Given the description of an element on the screen output the (x, y) to click on. 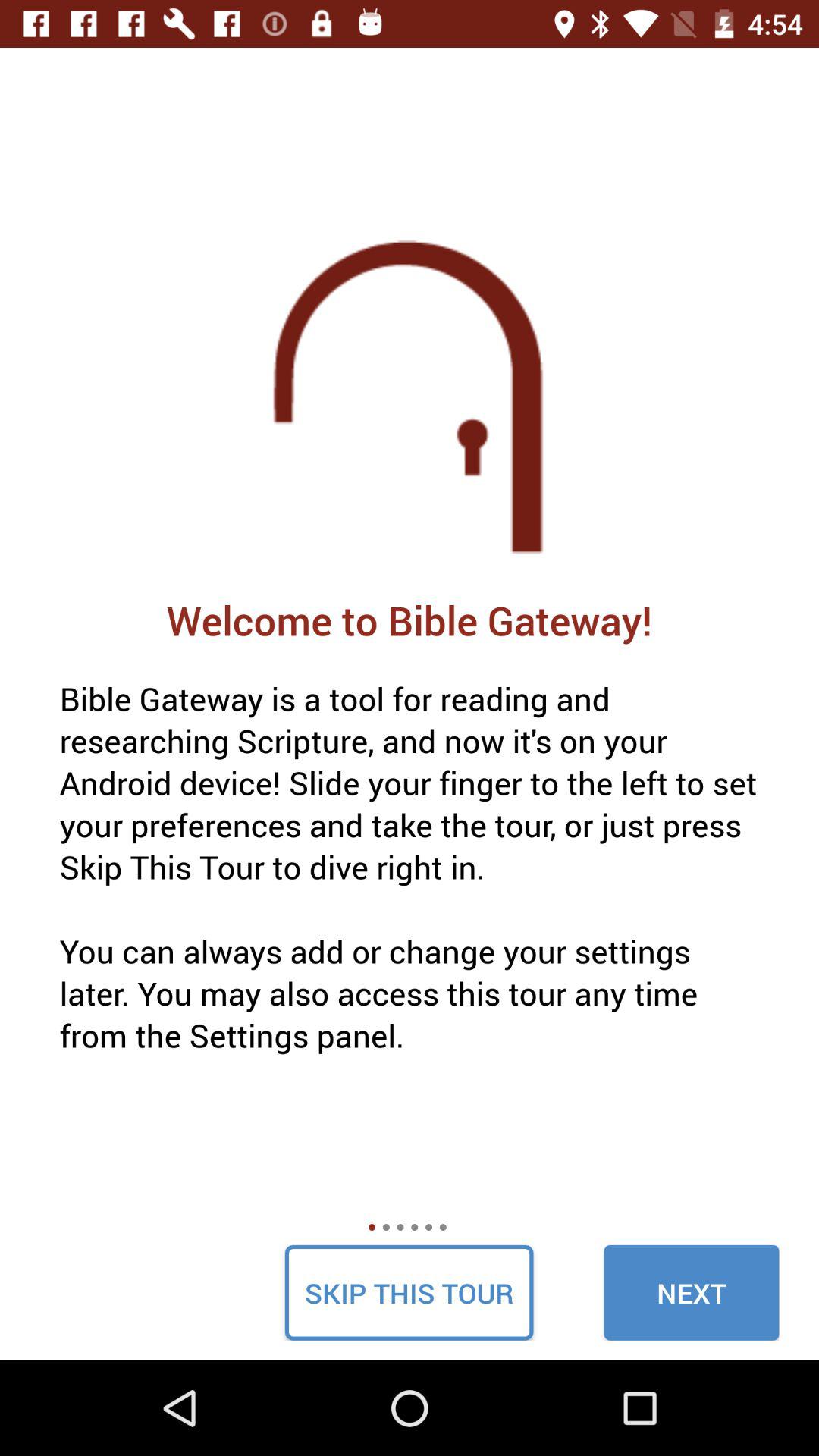
turn off the item next to skip this tour icon (691, 1292)
